Given the description of an element on the screen output the (x, y) to click on. 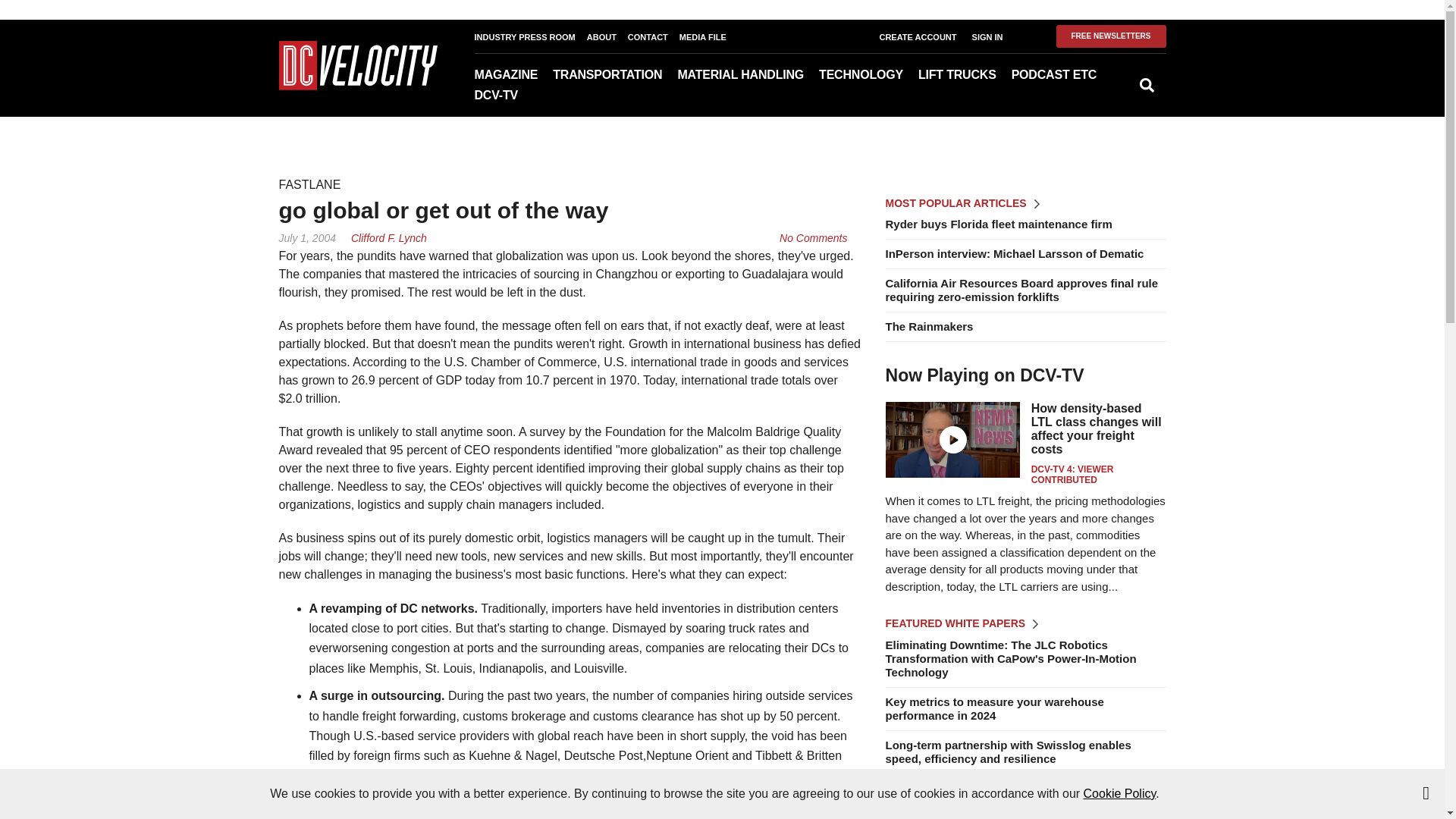
go global or get out of the way (812, 237)
